Given the description of an element on the screen output the (x, y) to click on. 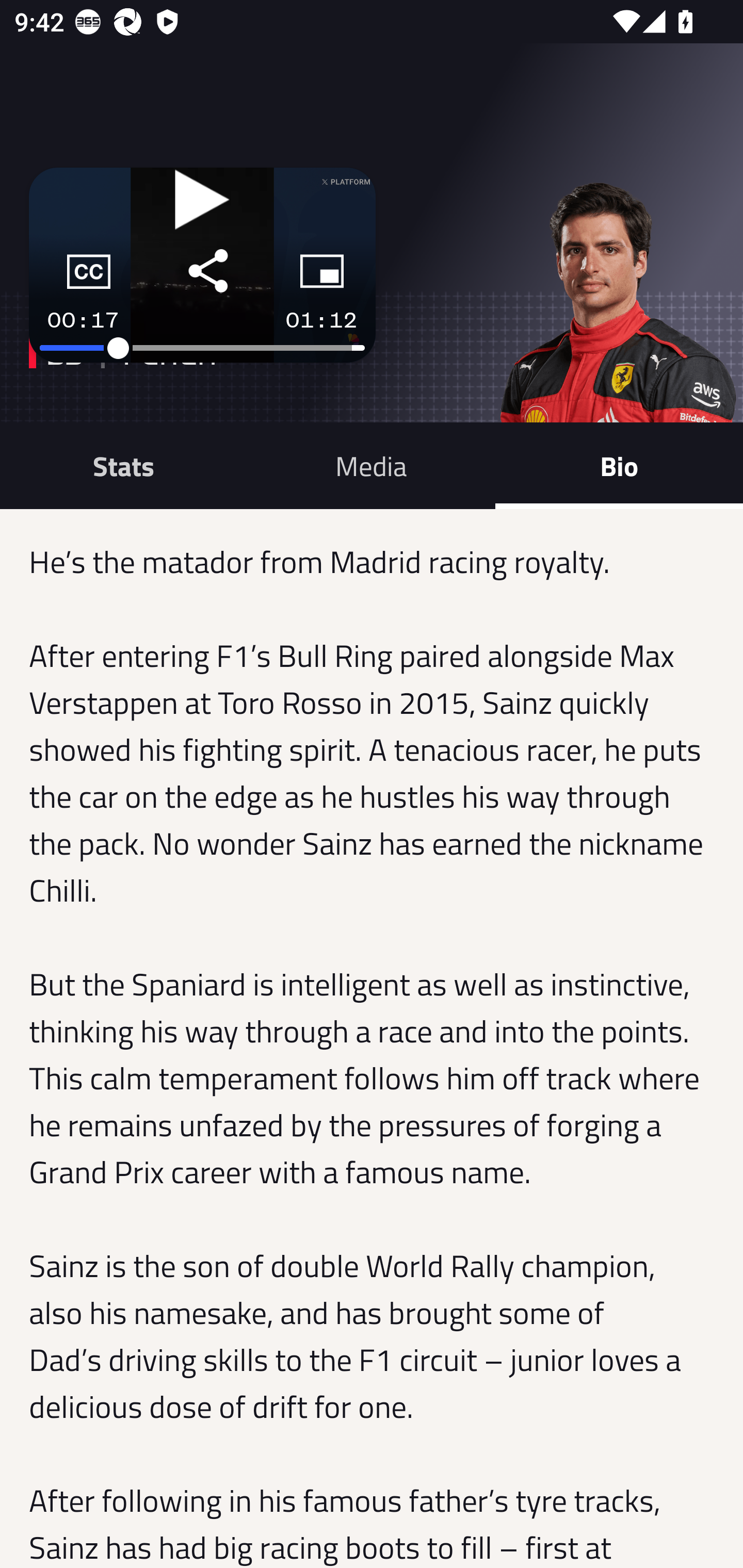
Stats (123, 465)
Media (371, 465)
